Given the description of an element on the screen output the (x, y) to click on. 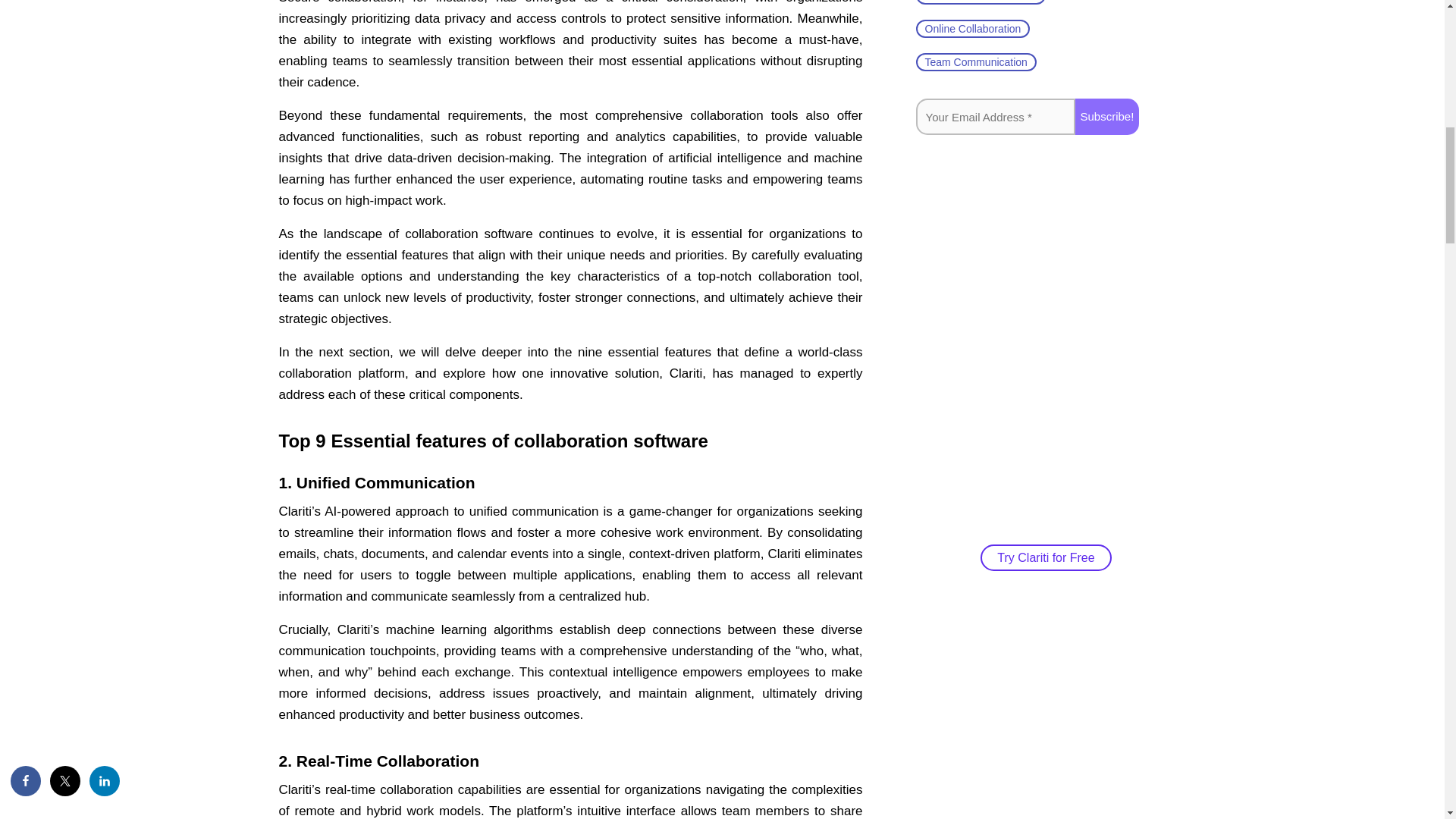
Subscribe! (1107, 116)
